Given the description of an element on the screen output the (x, y) to click on. 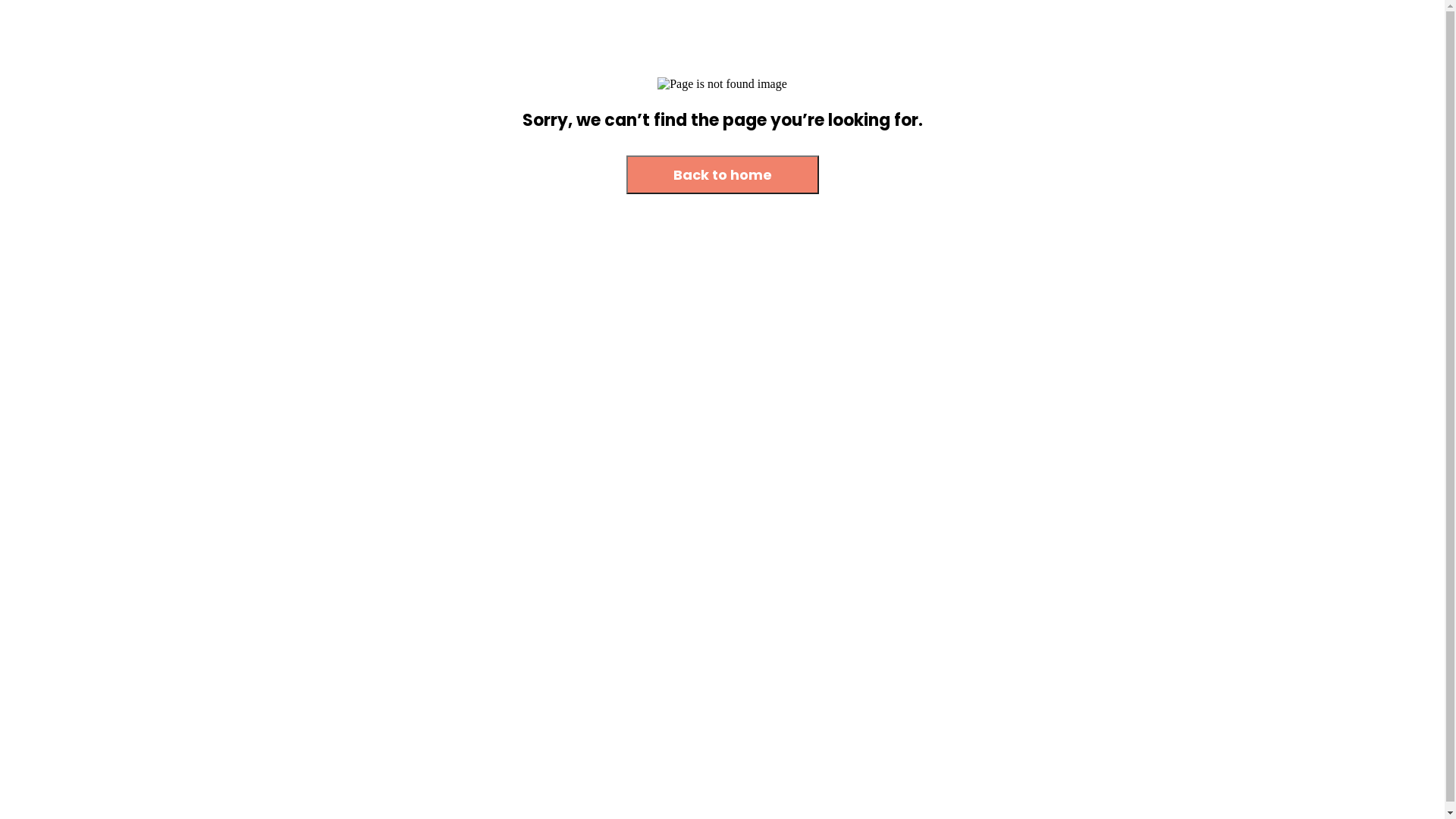
Back to home Element type: text (722, 175)
Back to home Element type: text (722, 174)
